Given the description of an element on the screen output the (x, y) to click on. 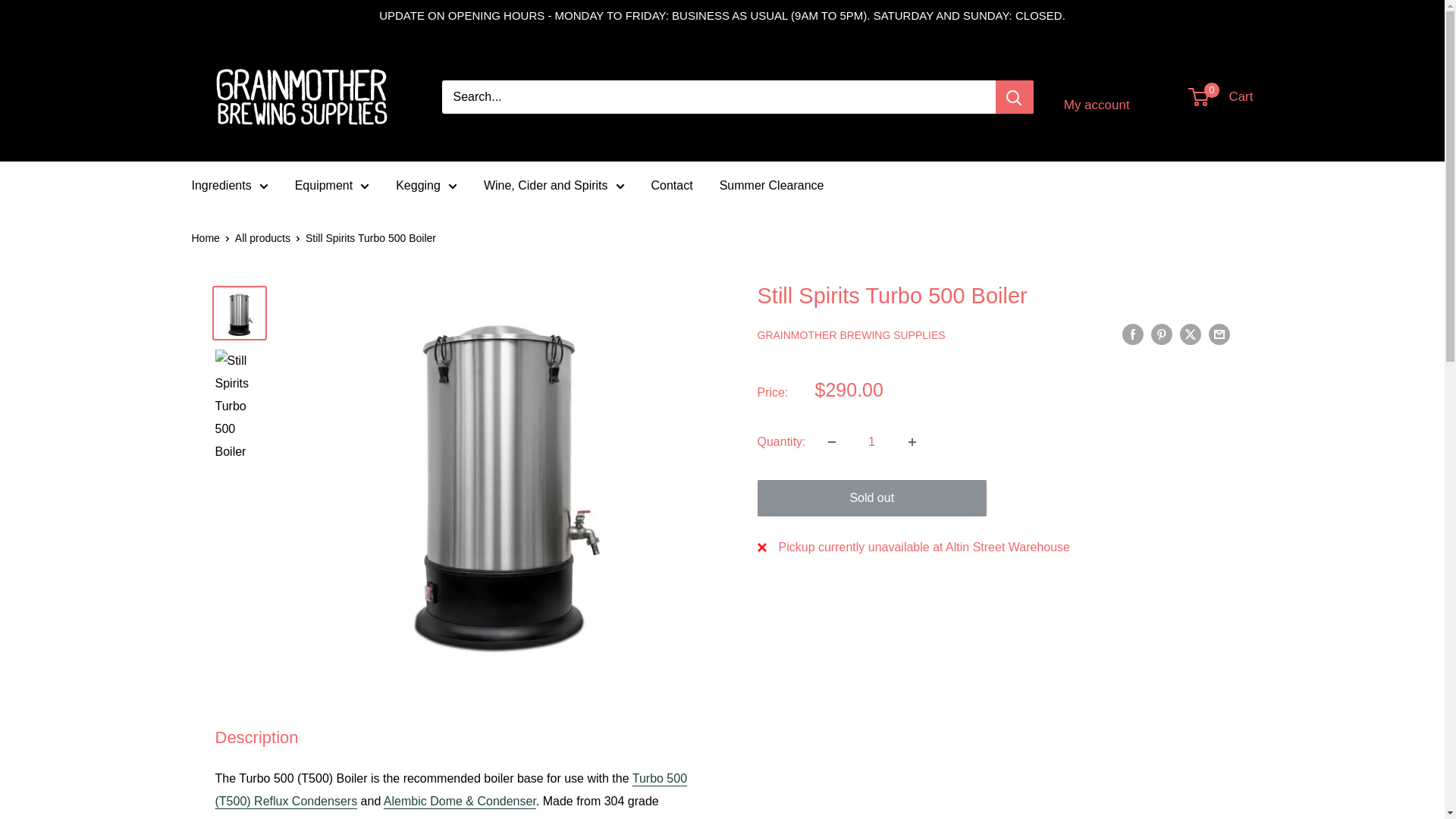
Turbo 500 Reflux Condenser Distillation Distil Spirits (451, 789)
Decrease quantity by 1 (831, 441)
1 (871, 441)
Increase quantity by 1 (912, 441)
